Given the description of an element on the screen output the (x, y) to click on. 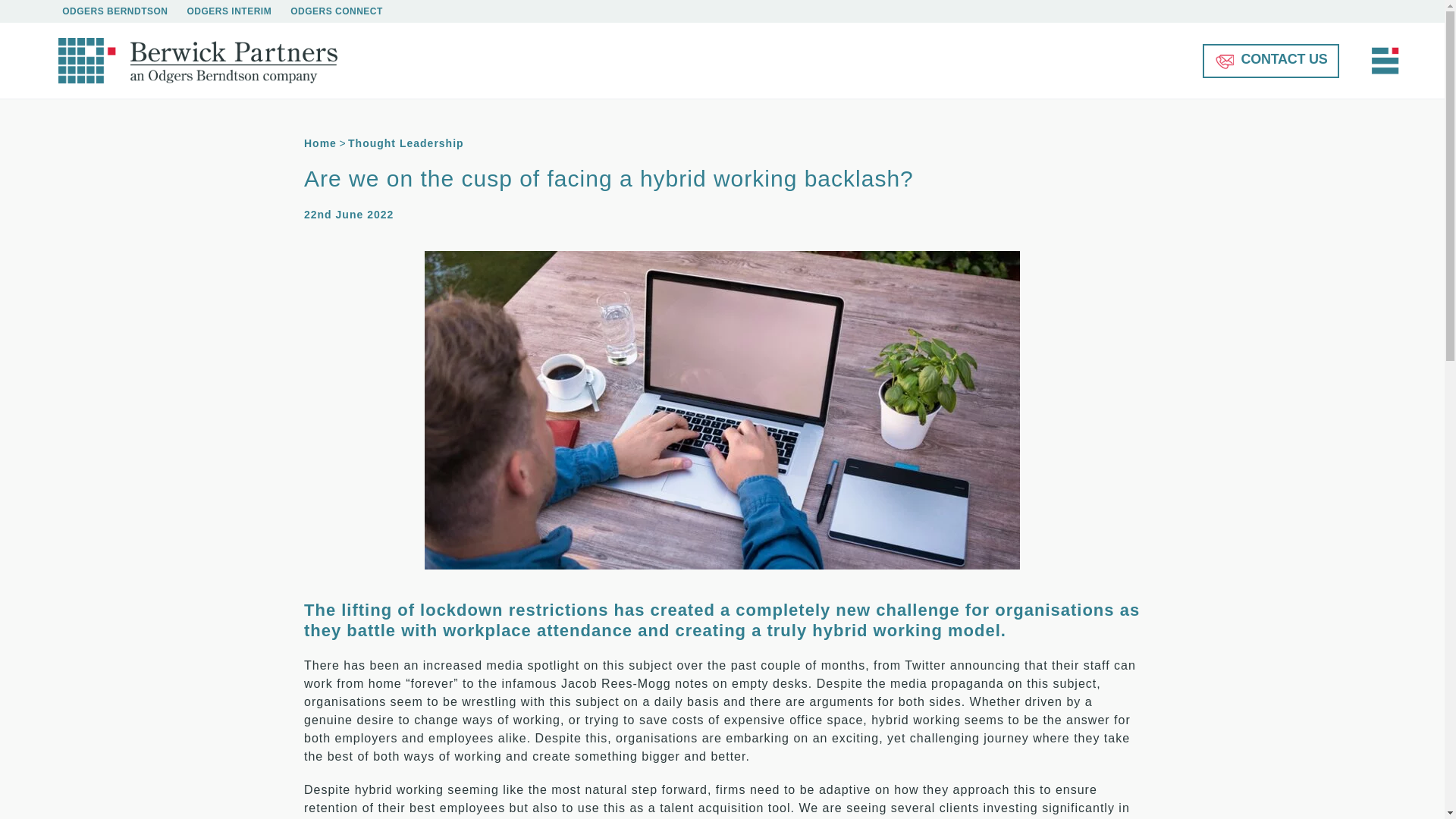
  CONTACT US (1270, 60)
ODGERS BERNDTSON (114, 10)
ODGERS INTERIM (228, 10)
ODGERS CONNECT (335, 10)
